Given the description of an element on the screen output the (x, y) to click on. 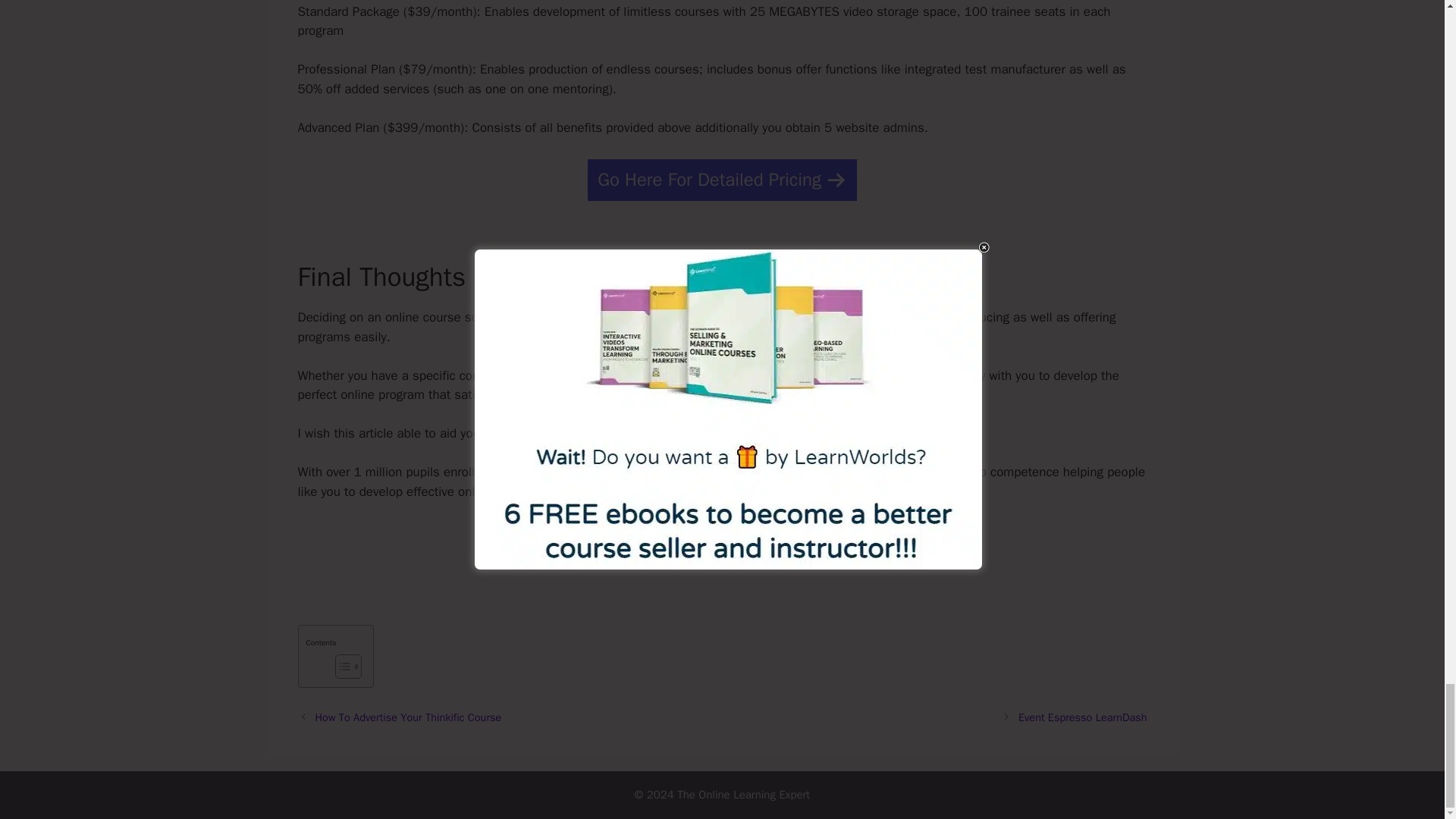
How To Advertise Your Thinkific Course (408, 716)
Claim Your Thinkific Free Trial (722, 544)
Thinkific platform (580, 471)
Go Here For Detailed Pricing (722, 179)
your online program success (670, 317)
Event Espresso LearnDash (1082, 716)
